Given the description of an element on the screen output the (x, y) to click on. 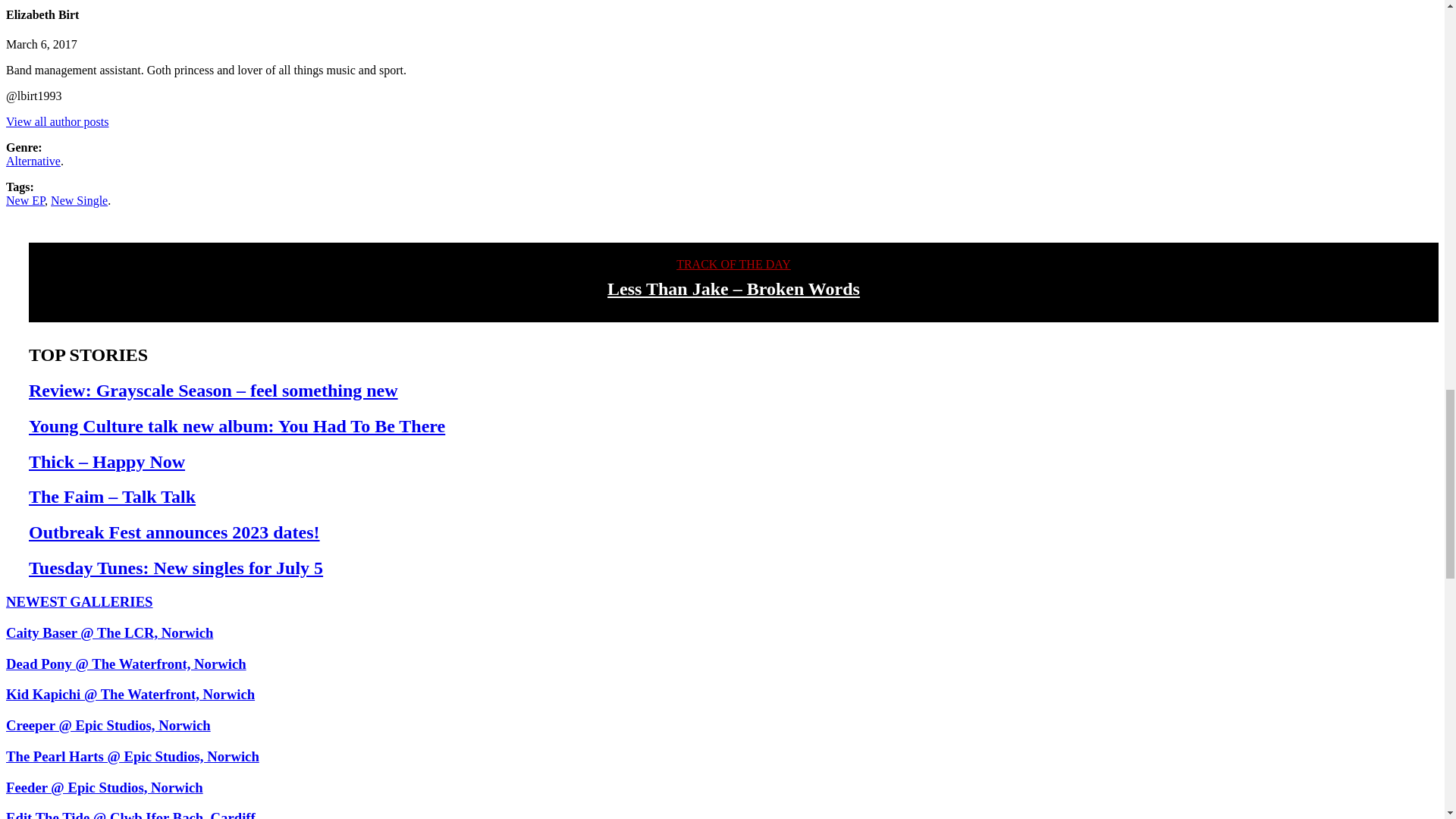
TRACK OF THE DAY (733, 264)
New Single (78, 200)
View all author posts (56, 121)
New EP (25, 200)
Alternative (33, 160)
View all author posts (56, 121)
